Given the description of an element on the screen output the (x, y) to click on. 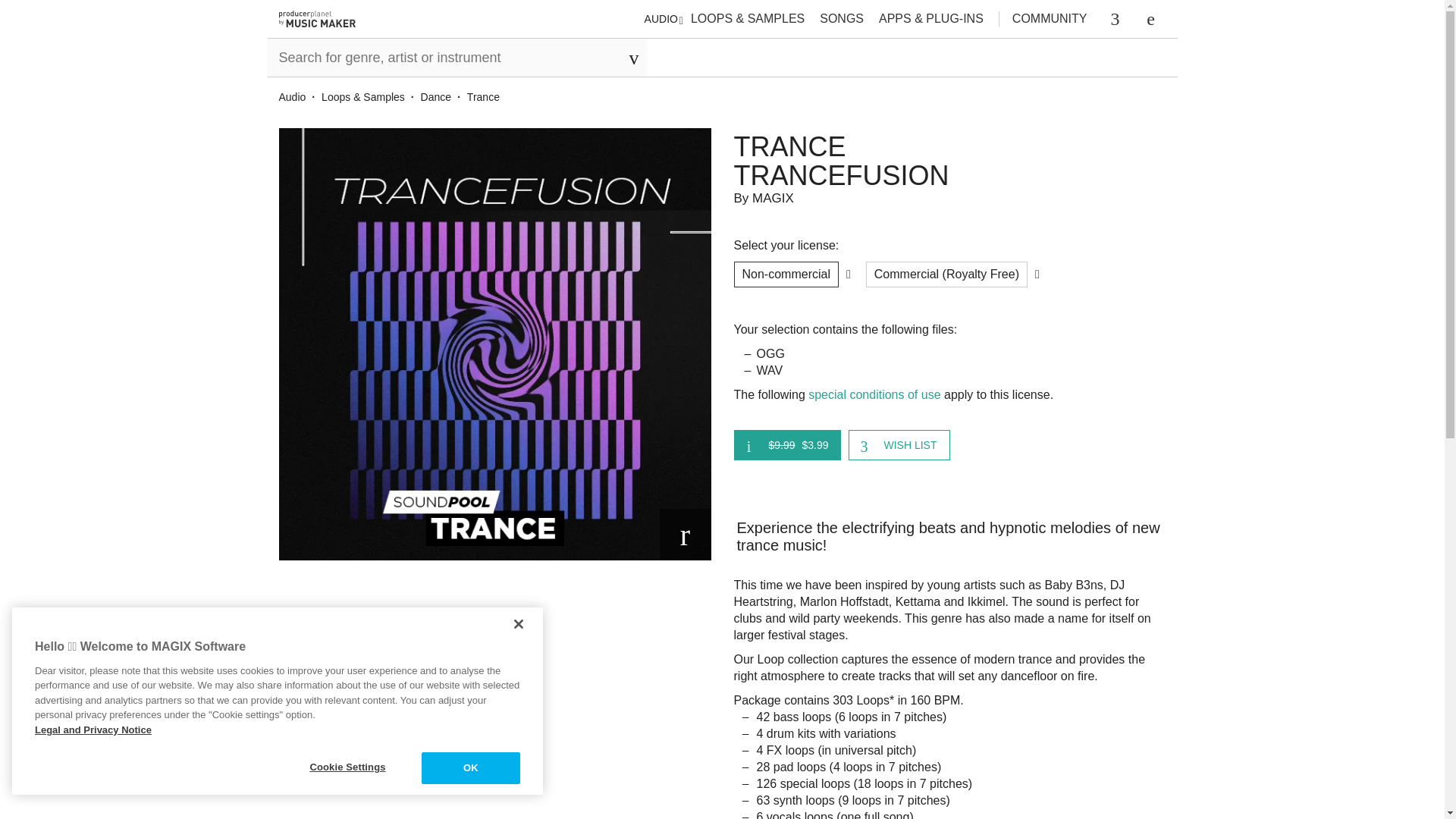
By MAGIX (949, 198)
Songs (841, 18)
COMMUNITY (1049, 19)
Trance (483, 96)
Dance (442, 96)
Non-commercial (785, 274)
TRANCE (949, 146)
Audio (298, 96)
Audio (298, 96)
TRANCEFUSION (949, 175)
